Given the description of an element on the screen output the (x, y) to click on. 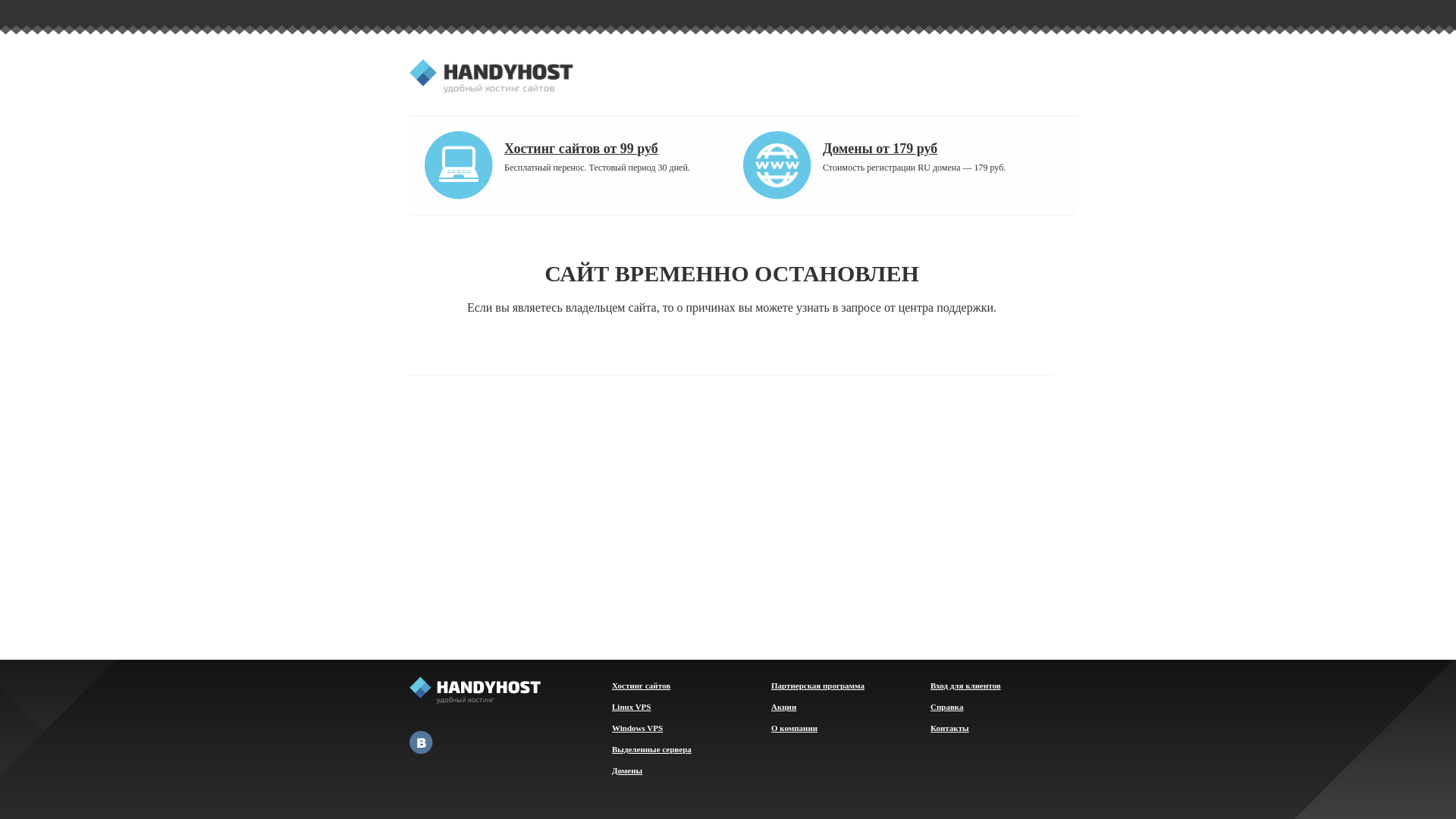
Windows VPS Element type: text (636, 727)
Linux VPS Element type: text (630, 706)
HandyHost.ru Element type: hover (491, 77)
